Given the description of an element on the screen output the (x, y) to click on. 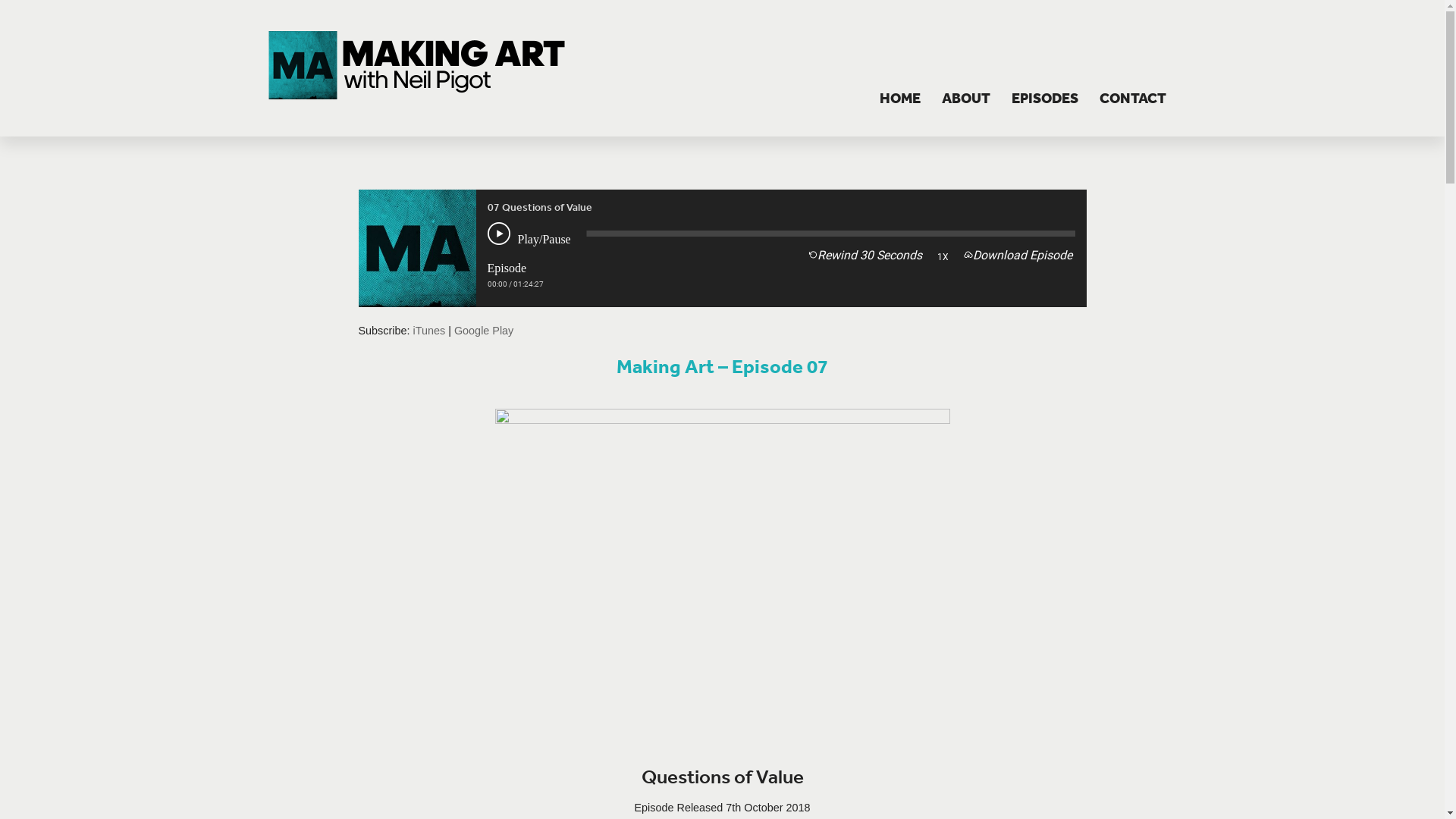
ABOUT Element type: text (965, 97)
HOME Element type: text (899, 97)
Google Play Element type: text (483, 330)
iTunes Element type: text (428, 330)
Download Episode Element type: text (1017, 256)
CONTACT Element type: text (1132, 97)
EPISODES Element type: text (1044, 97)
